Given the description of an element on the screen output the (x, y) to click on. 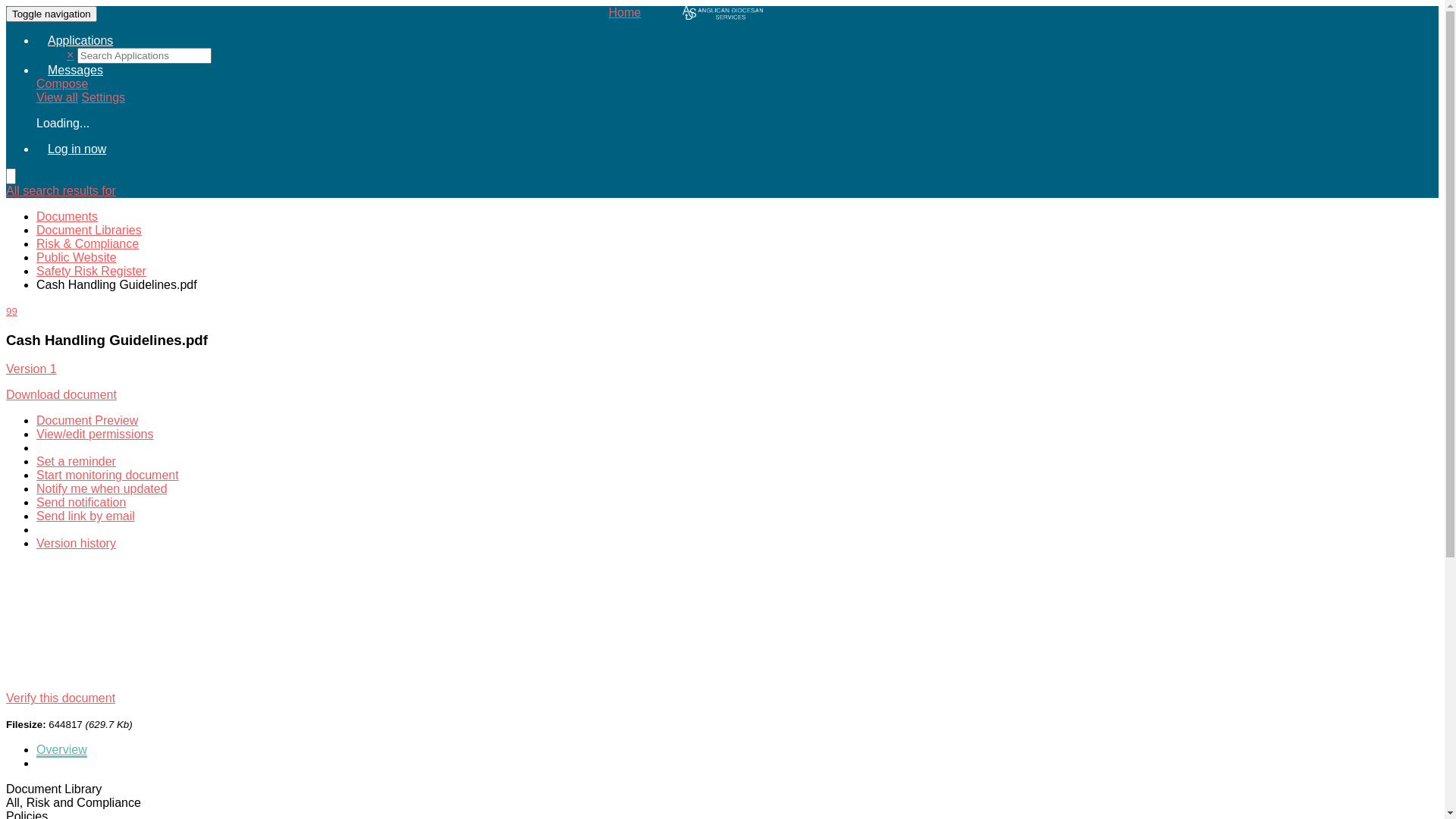
Applications Element type: text (80, 40)
View all Element type: text (57, 97)
Document Preview Element type: text (87, 420)
Safety Risk Register Element type: text (91, 270)
Compose Element type: text (61, 83)
Document Libraries Element type: text (88, 229)
View/edit permissions Element type: text (94, 433)
Toggle navigation Element type: text (51, 13)
Documents Element type: text (66, 216)
Settings Element type: text (103, 97)
Notify me when updated Element type: text (101, 488)
Public Website Element type: text (76, 257)
Version history Element type: text (76, 542)
Messages Element type: text (75, 69)
Start monitoring document Element type: text (107, 475)
All search results for Element type: text (61, 190)
Version 1 Element type: text (31, 368)
Log in now Element type: text (76, 148)
Overview Element type: text (61, 750)
Send link by email Element type: text (85, 515)
Download document Element type: text (61, 394)
Home Element type: text (721, 12)
Send notification Element type: text (80, 501)
Verify this document Element type: text (60, 697)
99 Element type: text (11, 310)
Set a reminder Element type: text (76, 461)
Risk & Compliance Element type: text (87, 243)
